Given the description of an element on the screen output the (x, y) to click on. 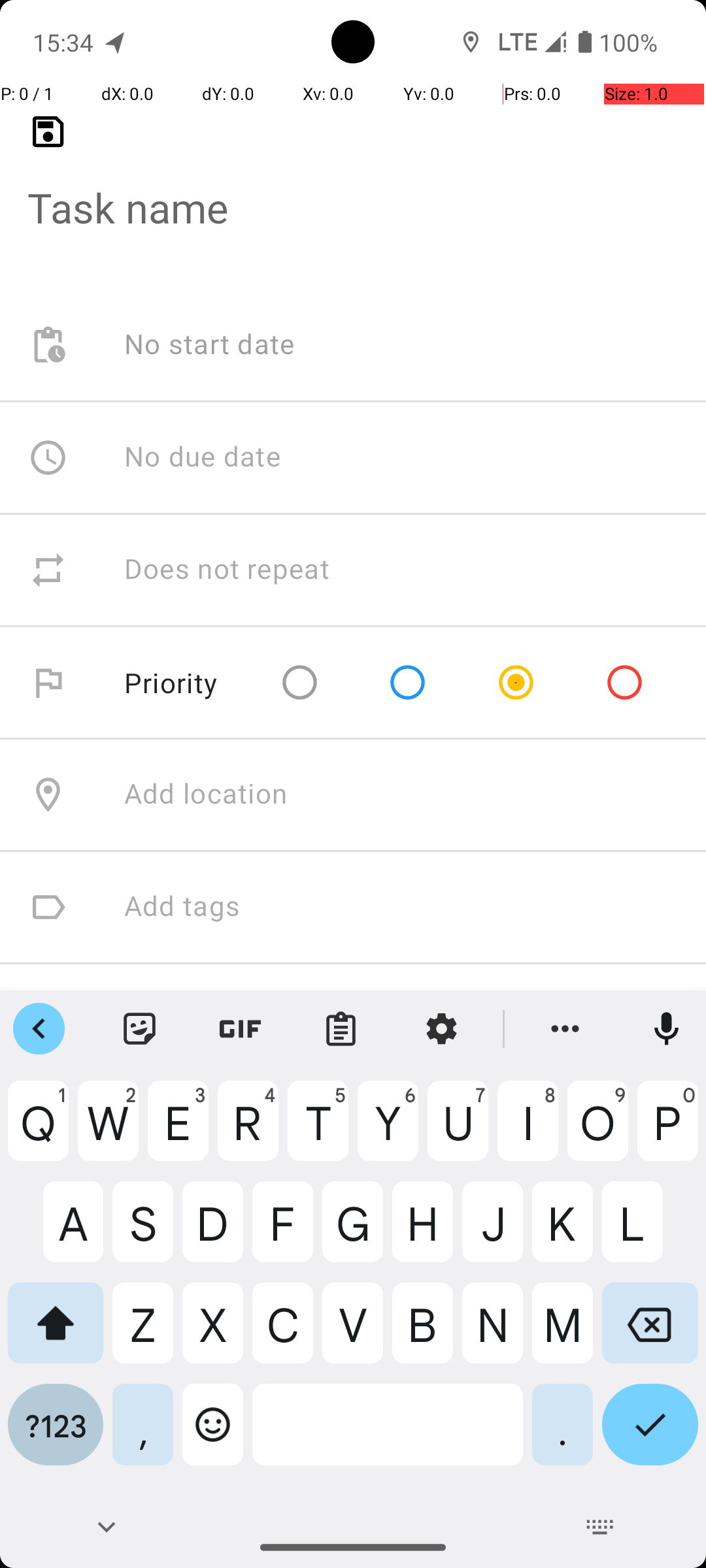
Task name Element type: android.widget.EditText (353, 186)
